Given the description of an element on the screen output the (x, y) to click on. 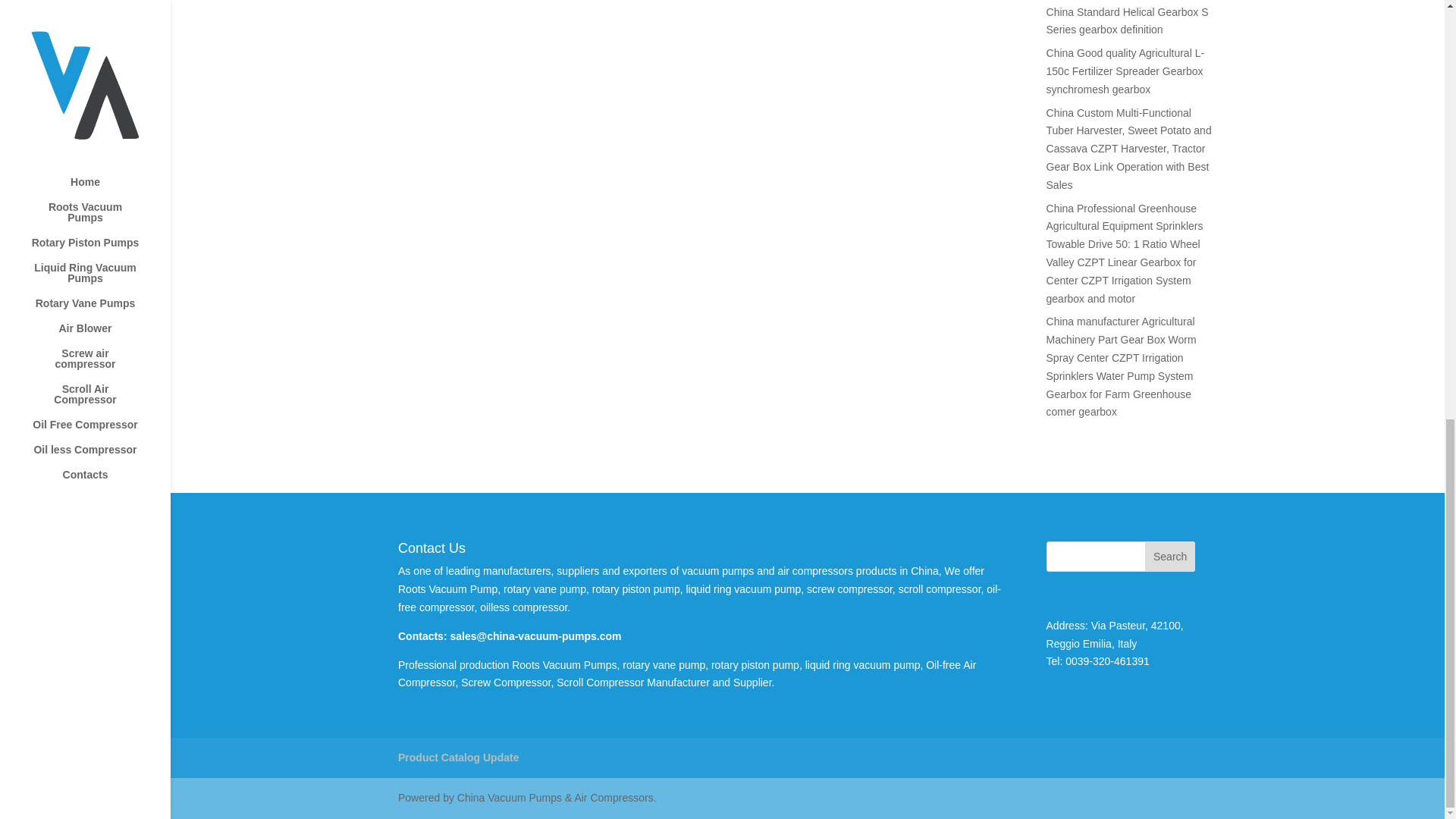
China Standard Helical Gearbox S Series gearbox definition (1127, 20)
Search (1169, 556)
